Given the description of an element on the screen output the (x, y) to click on. 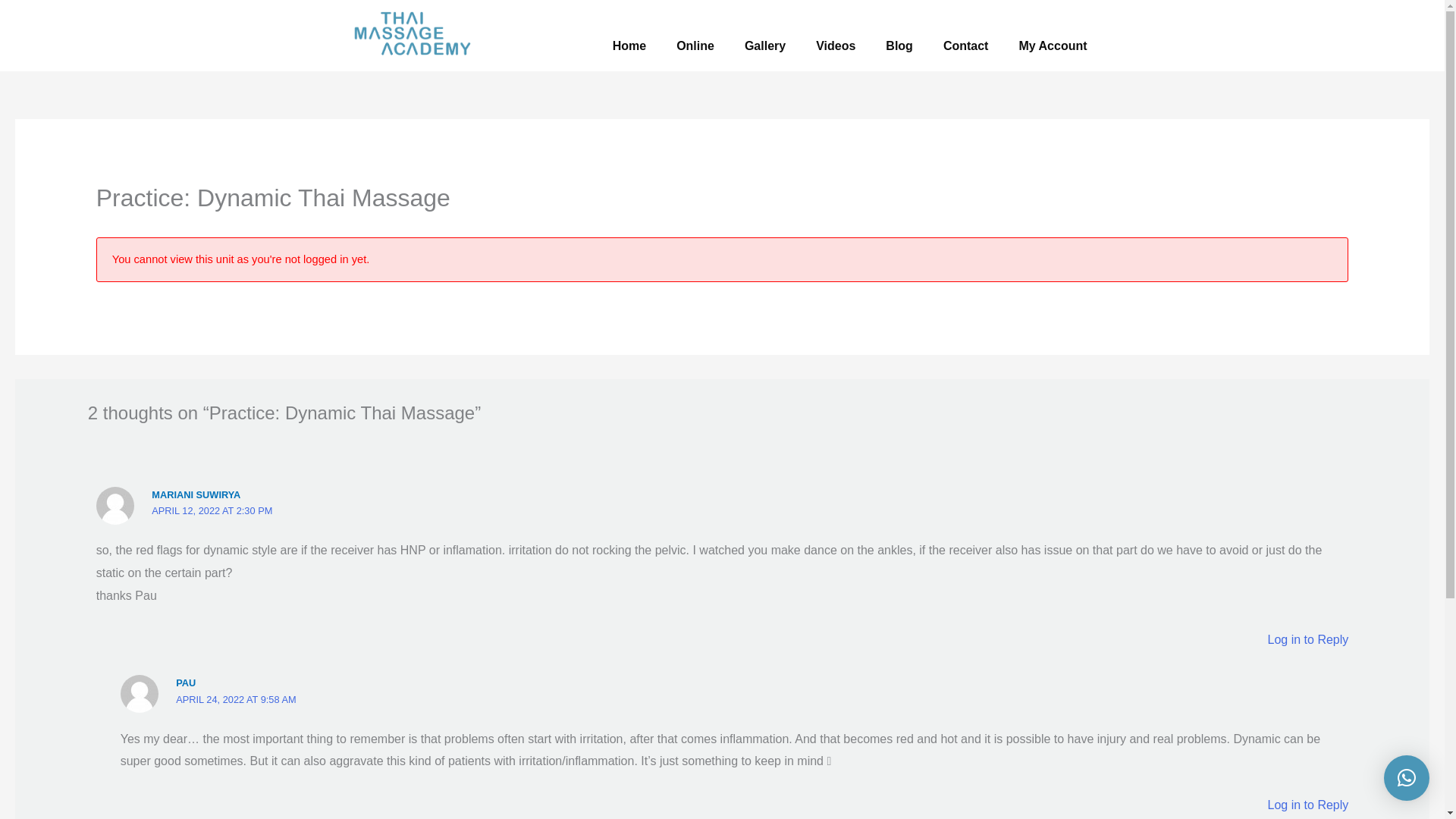
Home (628, 45)
Log in to Reply (1308, 804)
APRIL 24, 2022 AT 9:58 AM (235, 699)
Online (695, 45)
Blog (899, 45)
Log in to Reply (1308, 639)
Gallery (764, 45)
Videos (835, 45)
My Account (1052, 45)
APRIL 12, 2022 AT 2:30 PM (211, 510)
